Given the description of an element on the screen output the (x, y) to click on. 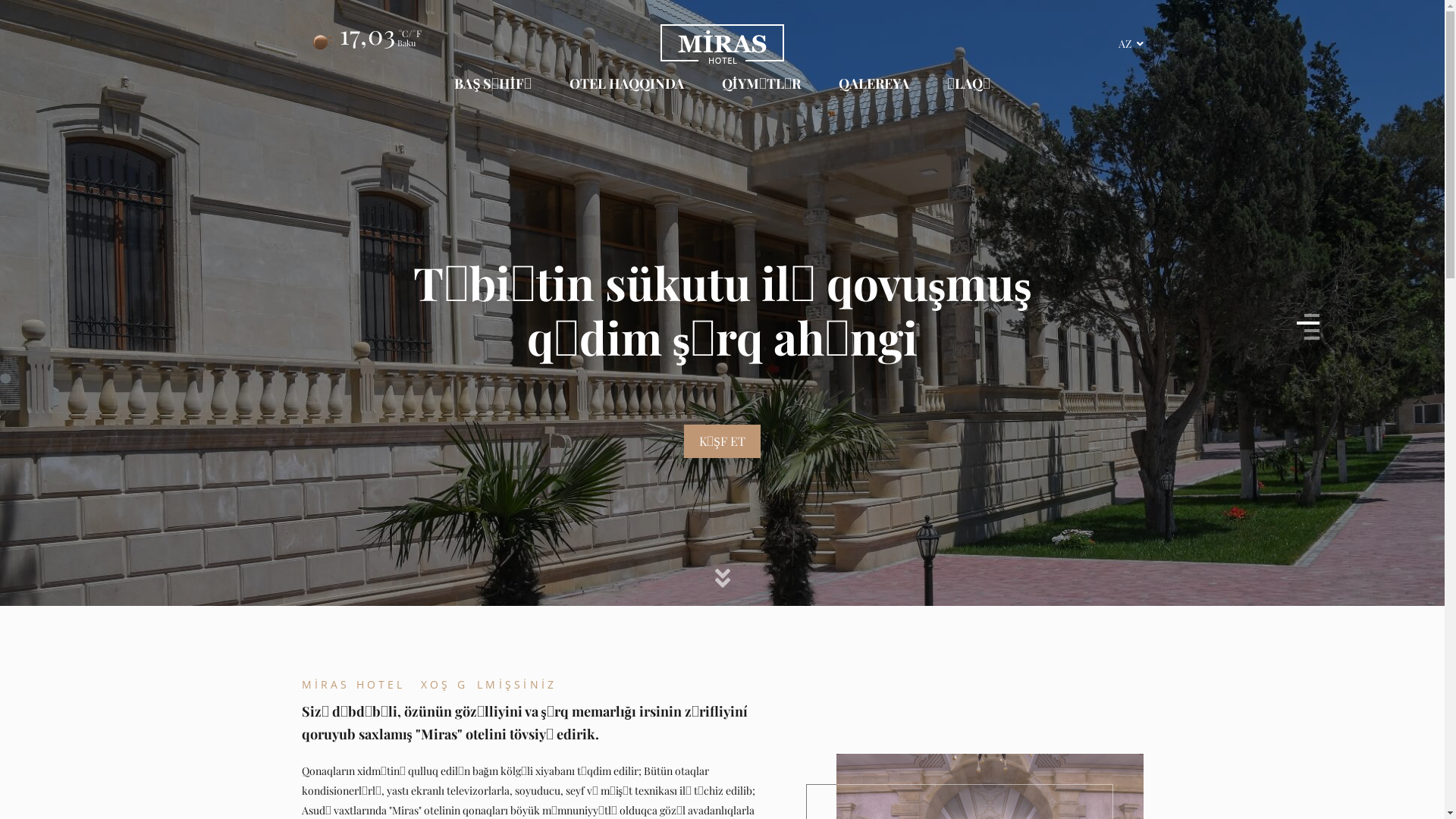
OTEL HAQQINDA Element type: text (625, 84)
AZ Element type: text (1129, 43)
QALEREYA Element type: text (873, 84)
